Given the description of an element on the screen output the (x, y) to click on. 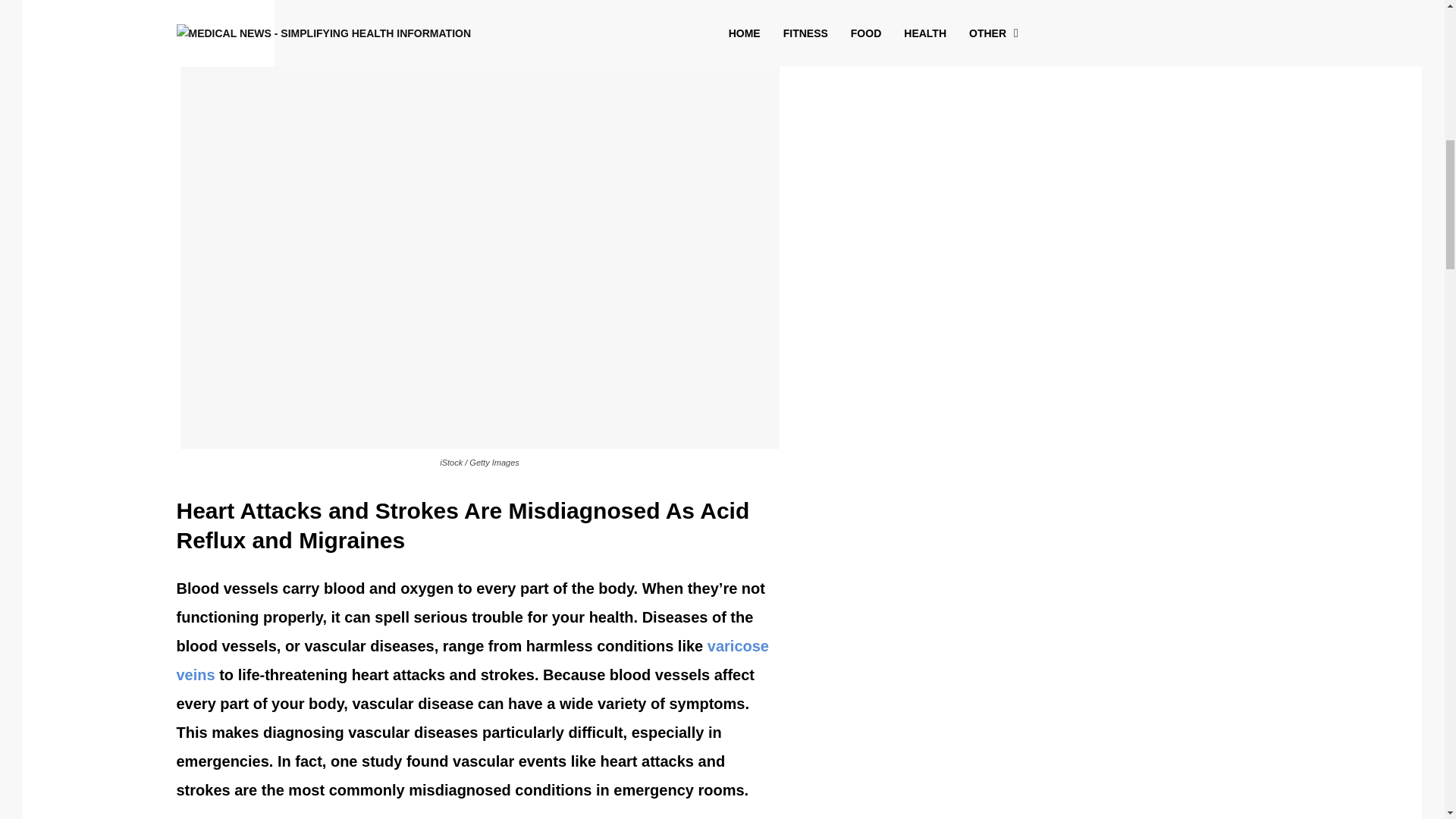
varicose veins (472, 660)
